Given the description of an element on the screen output the (x, y) to click on. 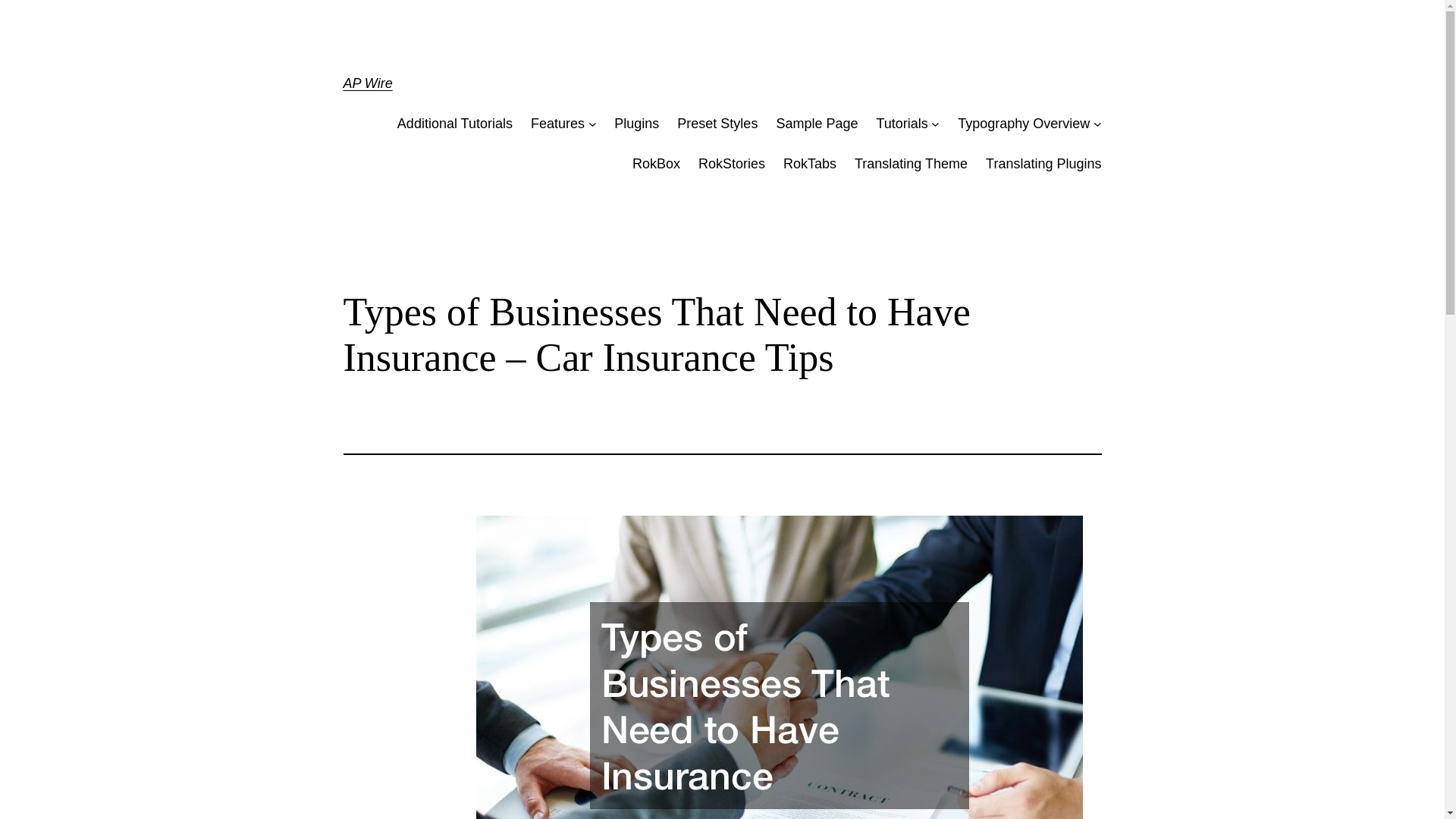
Additional Tutorials (454, 124)
RokStories (731, 164)
Tutorials (901, 124)
Translating Theme (911, 164)
Features (558, 124)
RokBox (655, 164)
Preset Styles (717, 124)
RokTabs (809, 164)
Sample Page (816, 124)
Translating Plugins (1042, 164)
Typography Overview (1023, 124)
Plugins (636, 124)
AP Wire (366, 83)
